Given the description of an element on the screen output the (x, y) to click on. 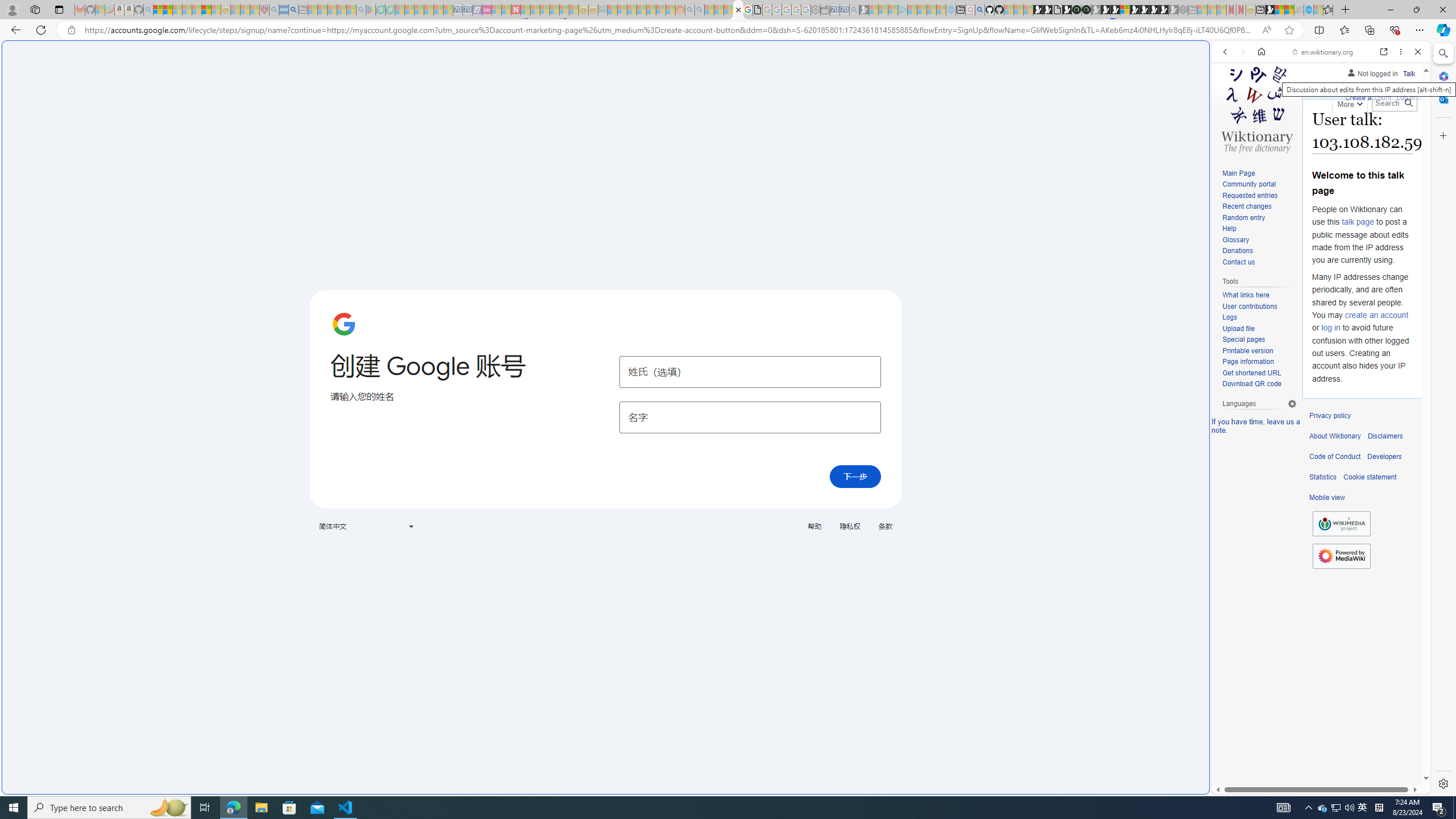
Logs (1229, 317)
Statistics (1322, 477)
